Given the description of an element on the screen output the (x, y) to click on. 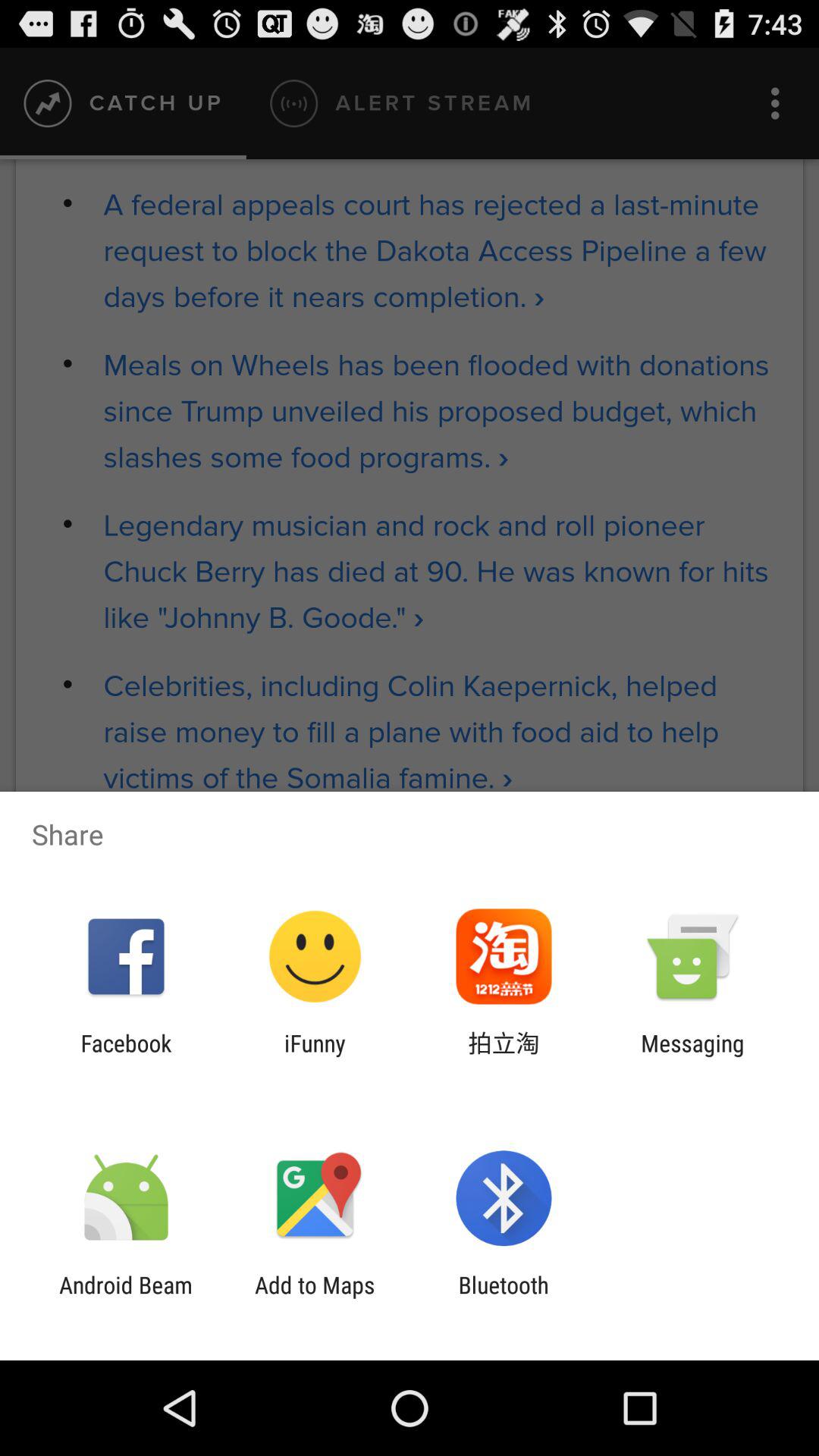
select the icon next to bluetooth icon (314, 1298)
